Given the description of an element on the screen output the (x, y) to click on. 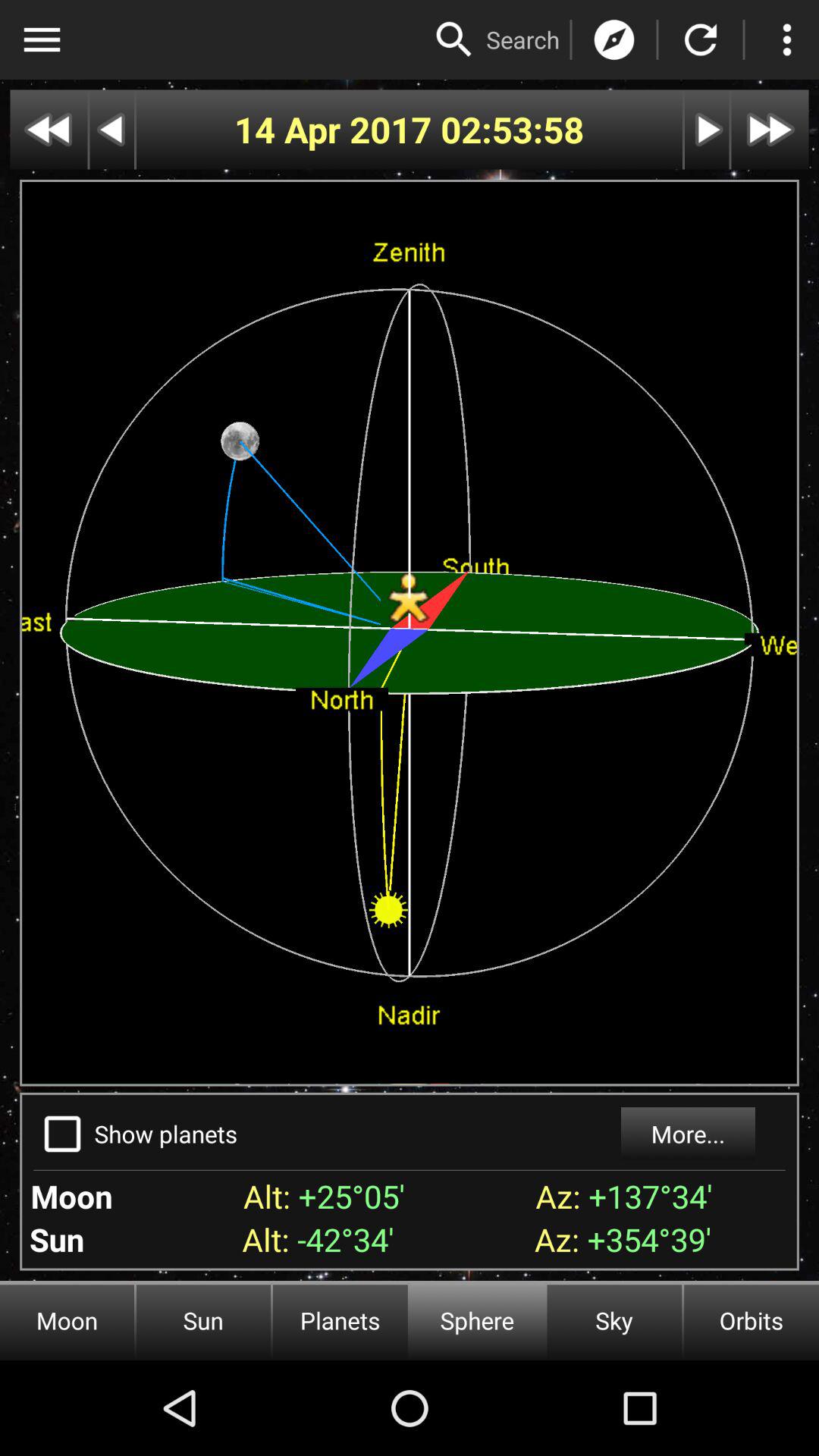
toggle compass calibration (614, 39)
